Given the description of an element on the screen output the (x, y) to click on. 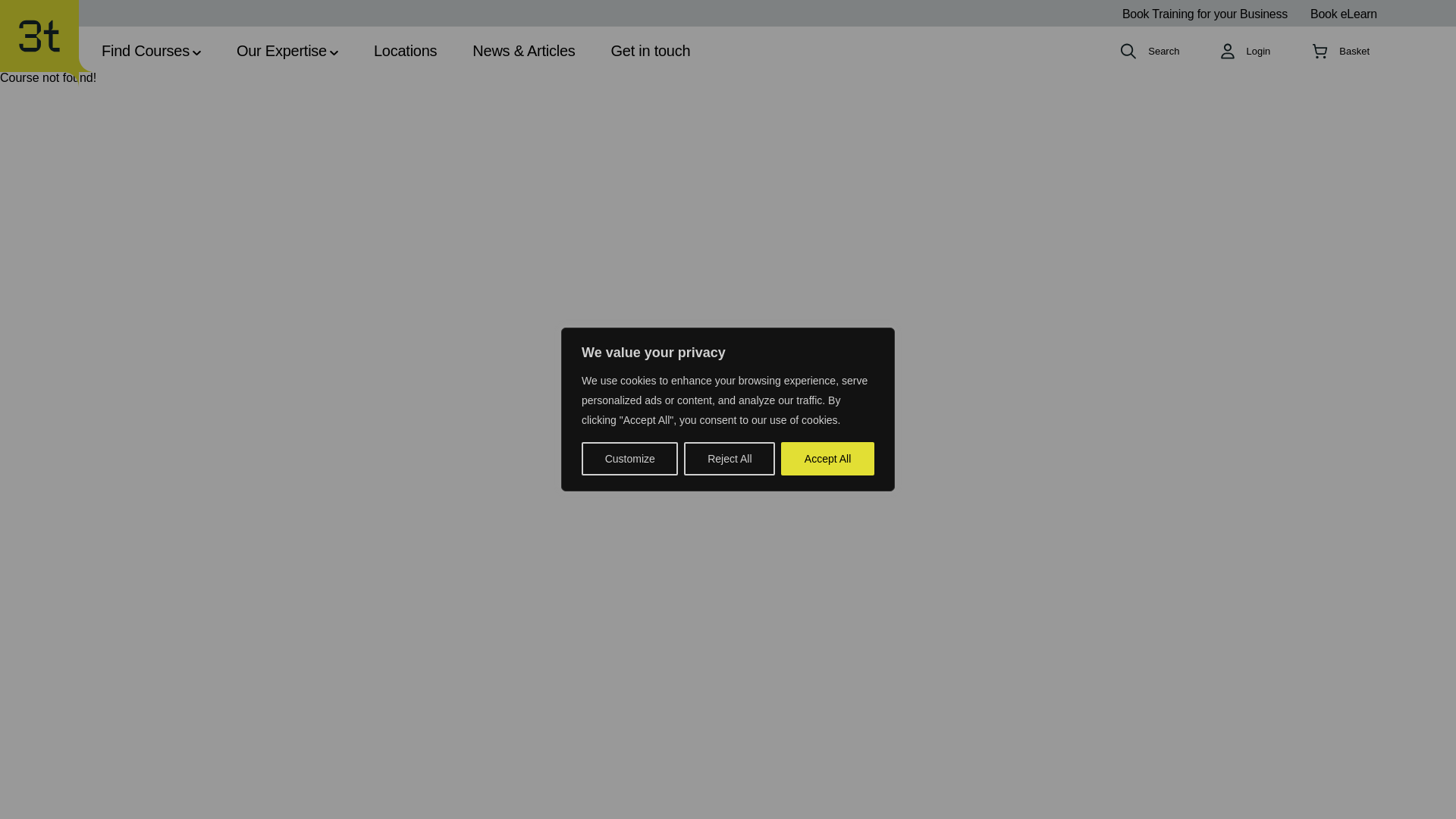
Find Courses (150, 52)
Locations (405, 52)
Login (1245, 51)
Book eLearn (1343, 13)
Our Expertise (286, 52)
Book Training for your Business (1204, 13)
Customize (629, 458)
Reject All (729, 458)
Search (1149, 51)
Checkout (1340, 51)
Get in touch (650, 52)
Search (750, 428)
Accept All (827, 458)
